Given the description of an element on the screen output the (x, y) to click on. 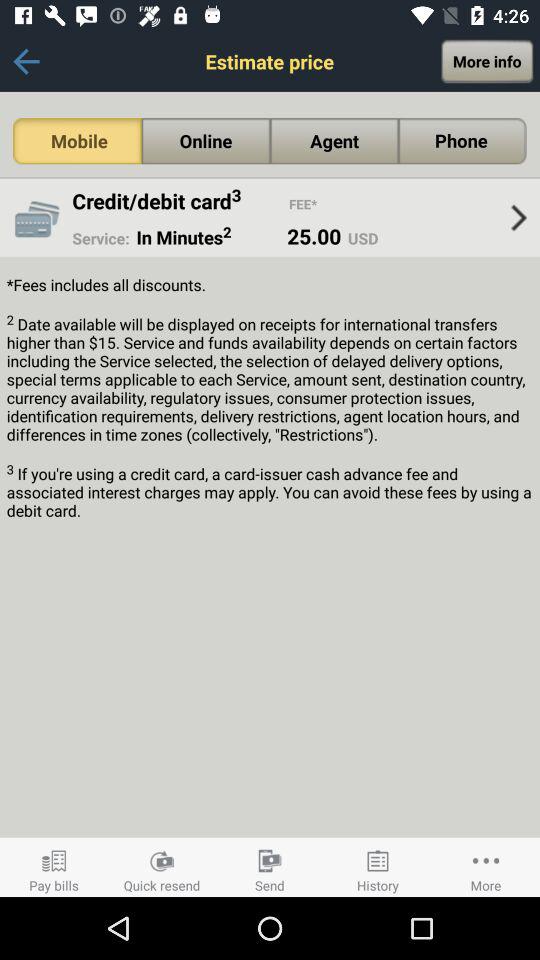
turn on app to the right of the in minutes2 item (314, 236)
